Given the description of an element on the screen output the (x, y) to click on. 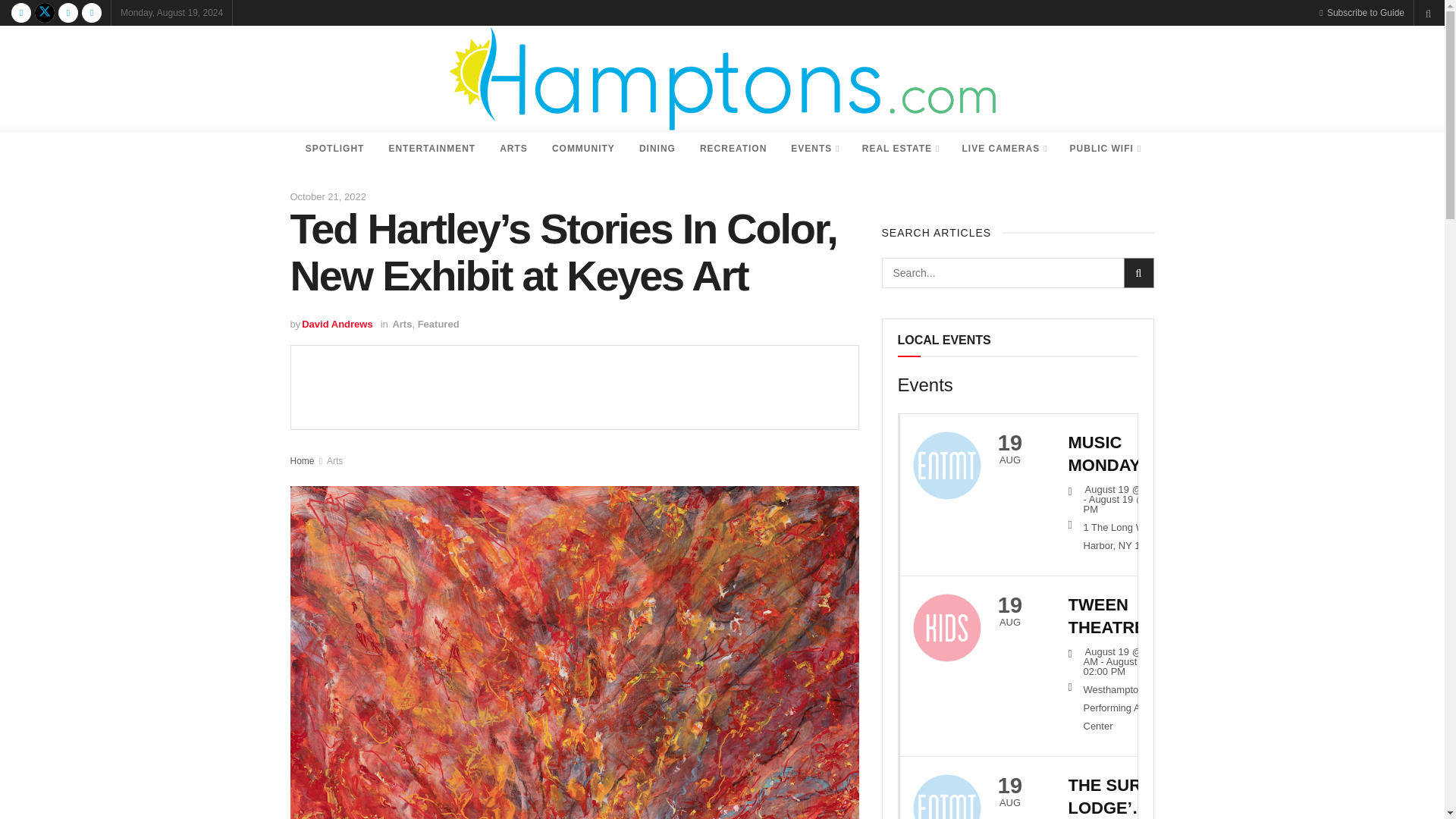
ENTERTAINMENT (431, 148)
DINING (657, 148)
SPOTLIGHT (335, 148)
Subscribe to Guide (1362, 12)
EVENTS (813, 148)
COMMUNITY (583, 148)
ARTS (513, 148)
REAL ESTATE (900, 148)
LIVE CAMERAS (1003, 148)
RECREATION (732, 148)
